Given the description of an element on the screen output the (x, y) to click on. 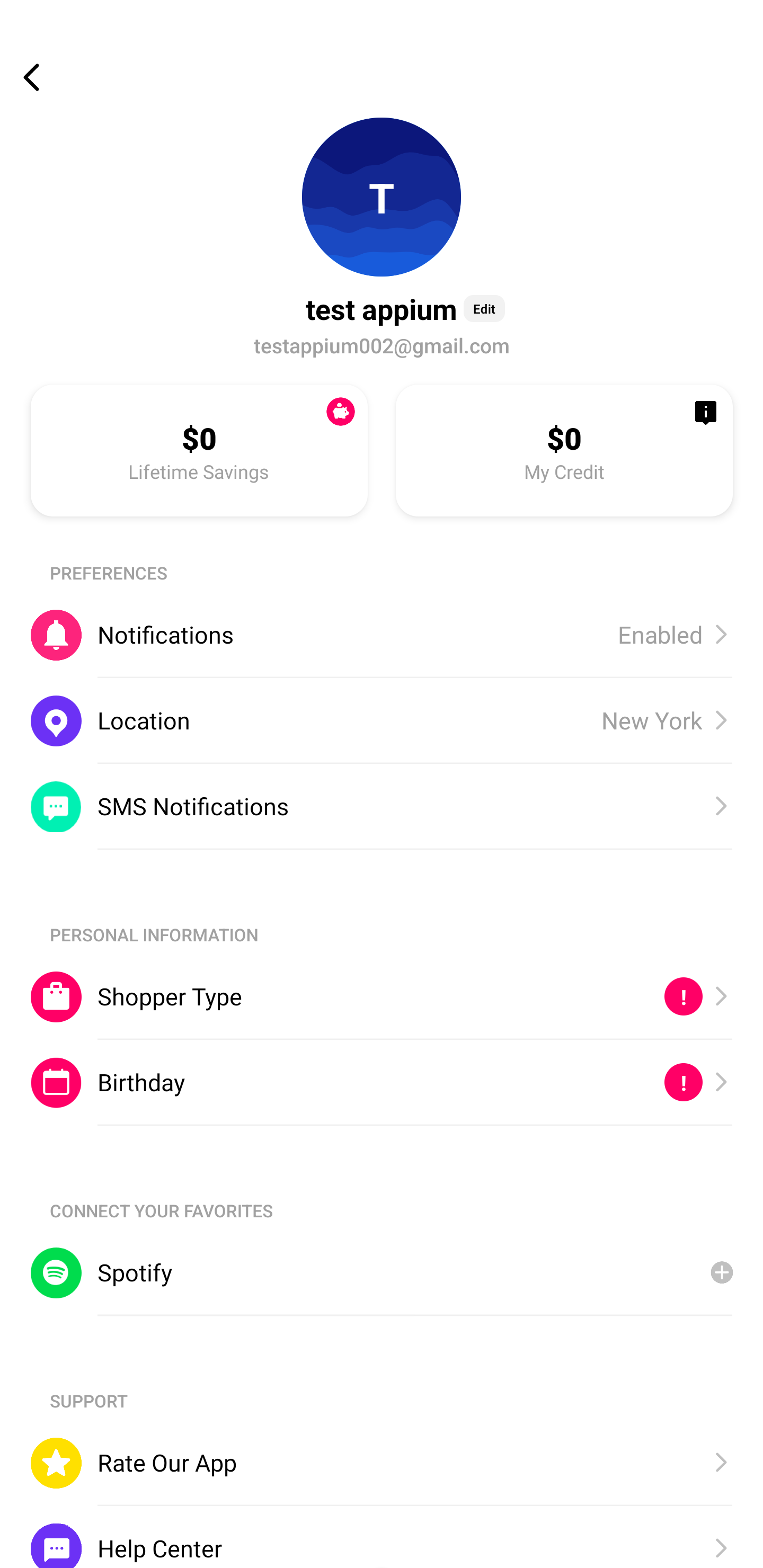
T (381, 196)
Edit (484, 307)
$0, Lifetime Savings $0 Lifetime Savings (198, 449)
$0, My Credit $0 My Credit (563, 449)
Location, New York Location New York (381, 720)
SMS Notifications,    SMS Notifications    (381, 806)
Shopper Type,   , ! Shopper Type    ! (381, 996)
Birthday,   , ! Birthday    ! (381, 1082)
Spotify,    Spotify    (381, 1272)
Rate Our App,    Rate Our App    (381, 1462)
Help Center,    Help Center    (381, 1536)
